Given the description of an element on the screen output the (x, y) to click on. 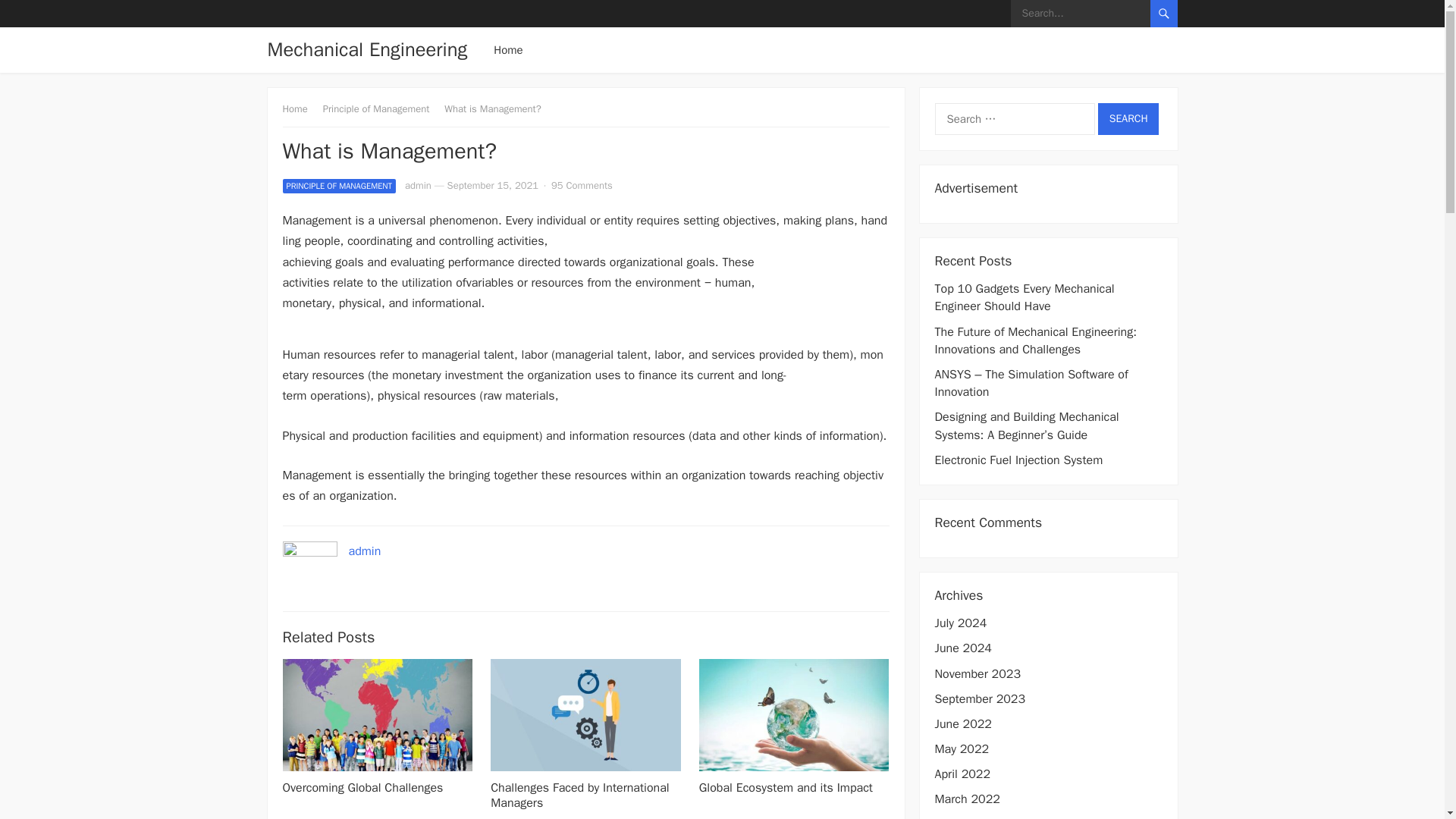
May 2022 (961, 749)
Search (1127, 119)
March 2022 (966, 798)
Home (507, 49)
April 2022 (962, 774)
June 2022 (962, 724)
Search (1127, 119)
July 2024 (960, 622)
Mechanical Engineering (366, 49)
Overcoming Global Challenges (362, 787)
Top 10 Gadgets Every Mechanical Engineer Should Have (1023, 297)
June 2024 (962, 648)
Home (299, 108)
95 Comments (581, 185)
